Given the description of an element on the screen output the (x, y) to click on. 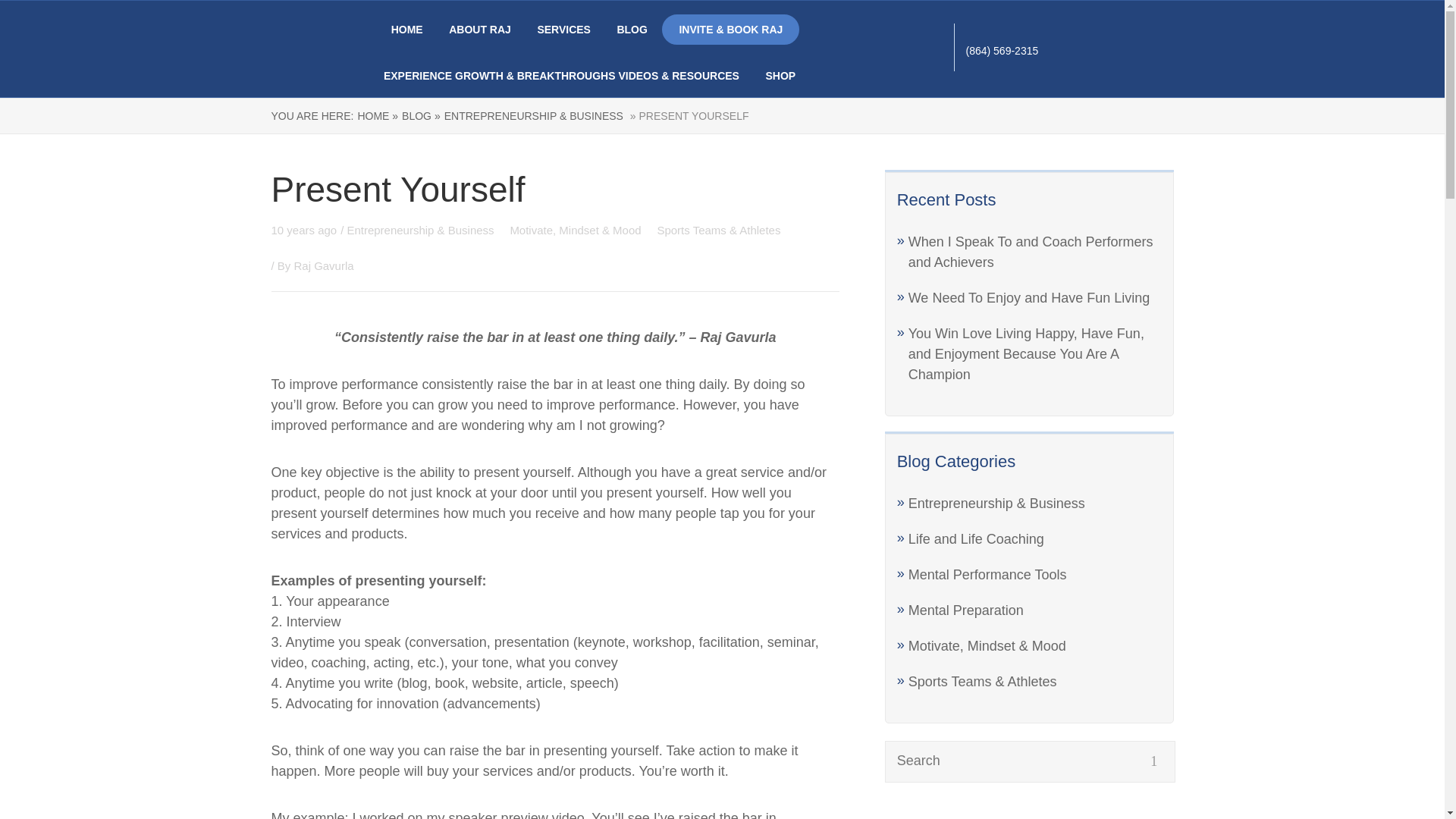
SHOP (779, 75)
BLOG (630, 29)
Raj Gavurla (323, 265)
ABOUT RAJ (479, 29)
SERVICES (564, 29)
Mental Performance Tools (987, 574)
HOME (407, 29)
When I Speak To and Coach Performers and Achievers (1030, 252)
We Need To Enjoy and Have Fun Living (1029, 297)
